Given the description of an element on the screen output the (x, y) to click on. 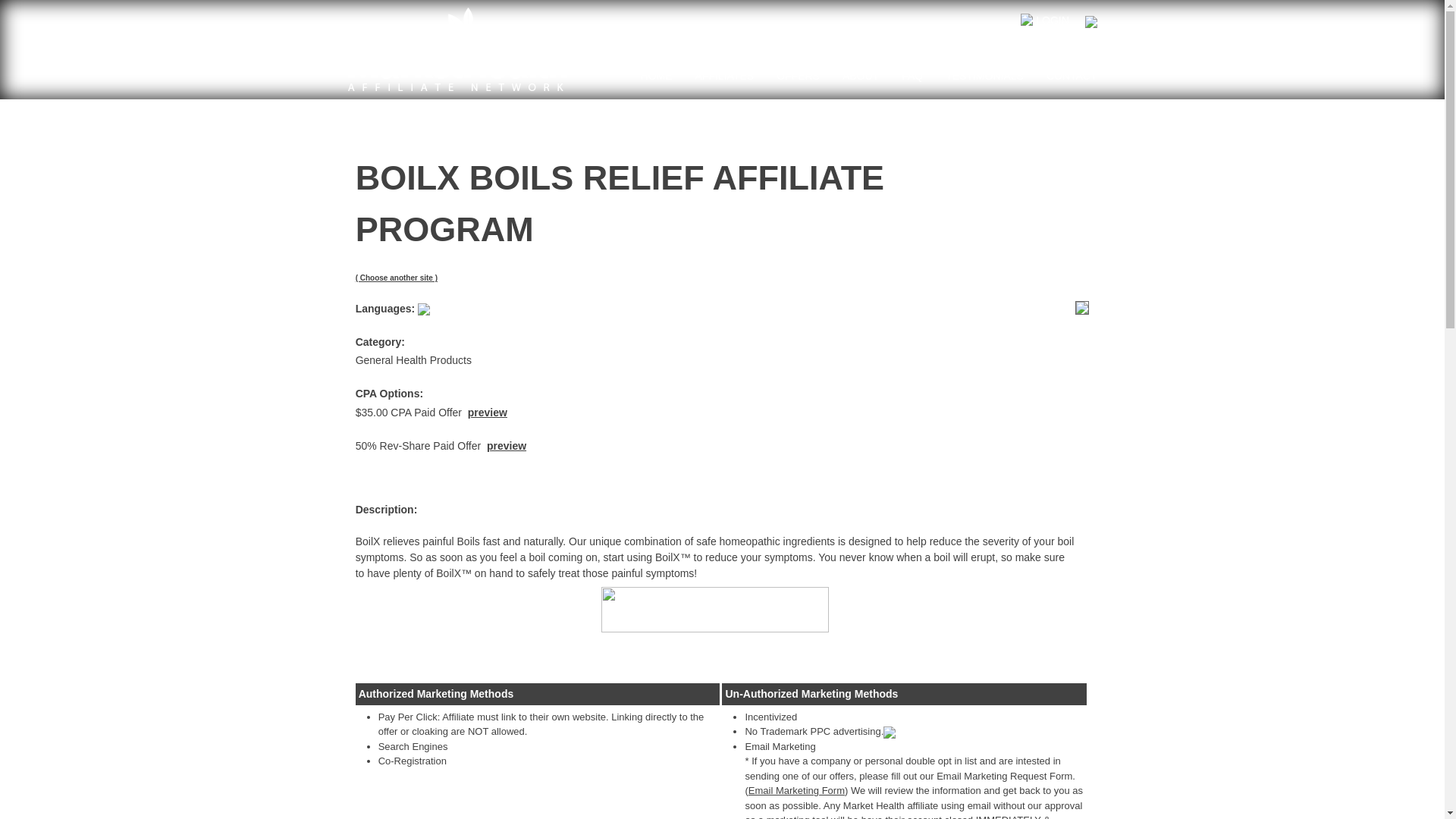
TESTIMONIALS (983, 75)
AFFILIATES (724, 75)
OFFERS (797, 75)
FAQ (912, 75)
Email Marketing Form (796, 790)
preview (505, 445)
HOME (656, 75)
preview (486, 412)
ABOUT (861, 75)
CONTACT (1071, 75)
Send Us Feedback! (1042, 160)
